Given the description of an element on the screen output the (x, y) to click on. 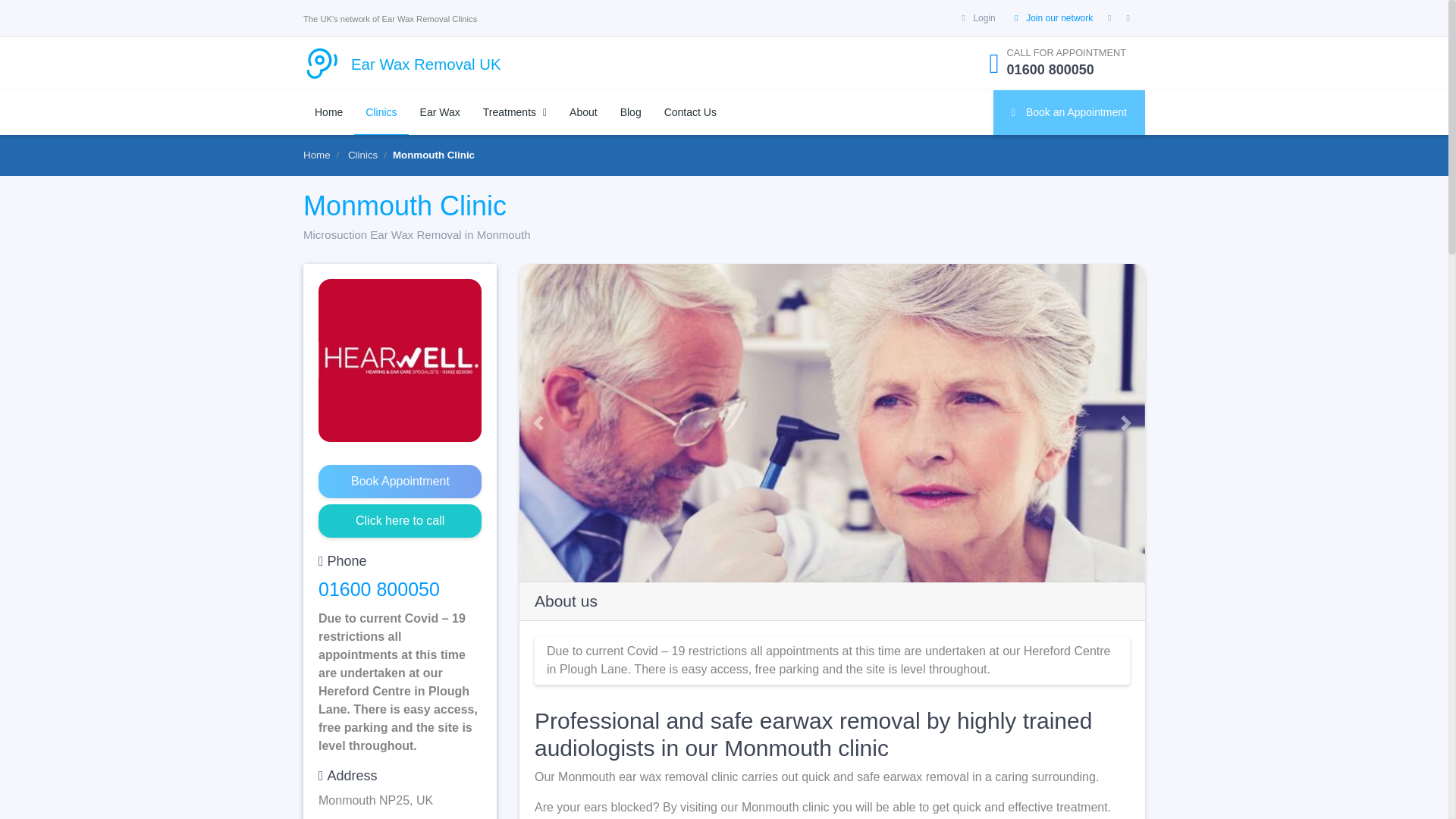
About (582, 112)
Home (327, 112)
Join our network of clinics (1059, 18)
Book Appointment (399, 481)
Home (316, 154)
Book an Appointment (1068, 112)
Click here to call (399, 520)
Contact Us (690, 112)
Contact Us (690, 112)
All treatments (514, 112)
